Given the description of an element on the screen output the (x, y) to click on. 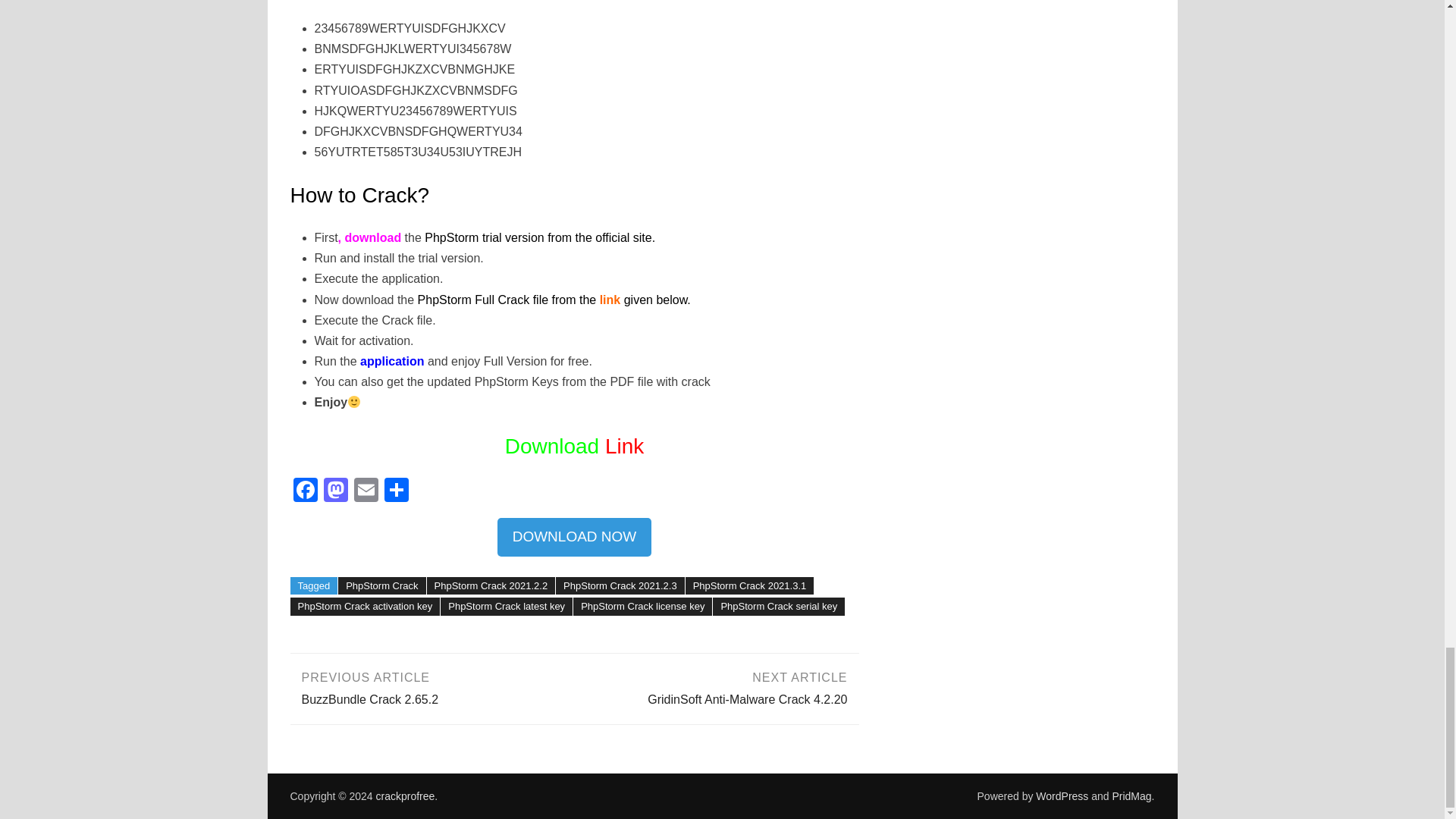
Email (365, 491)
PhpStorm Crack latest key (506, 606)
Mastodon (335, 491)
Facebook (304, 491)
PhpStorm Crack 2021.2.2 (491, 586)
PhpStorm Crack serial key (778, 606)
link (607, 298)
application (391, 360)
Email (365, 491)
Mastodon (335, 491)
